Given the description of an element on the screen output the (x, y) to click on. 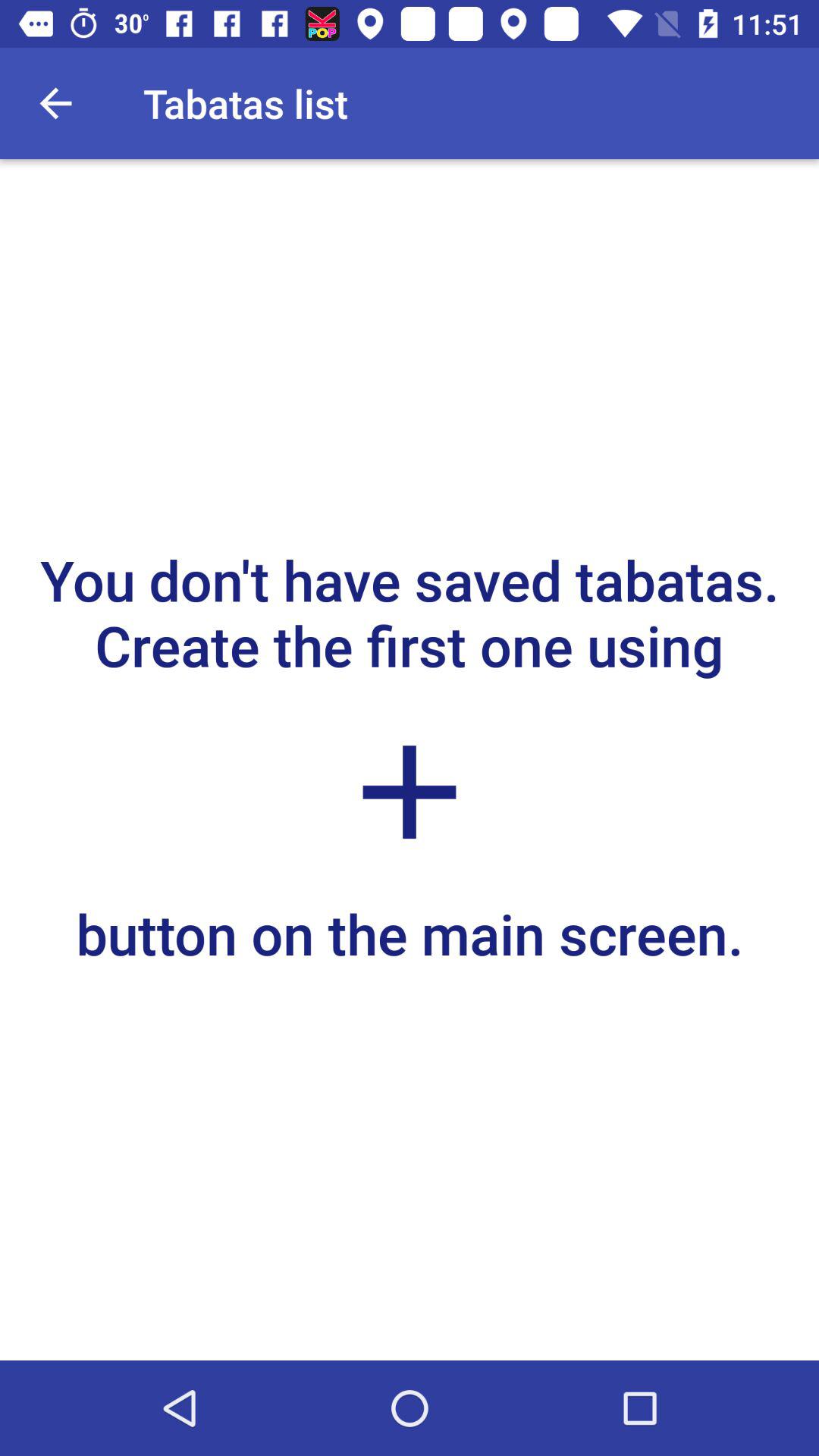
press icon below the you don t (409, 791)
